Given the description of an element on the screen output the (x, y) to click on. 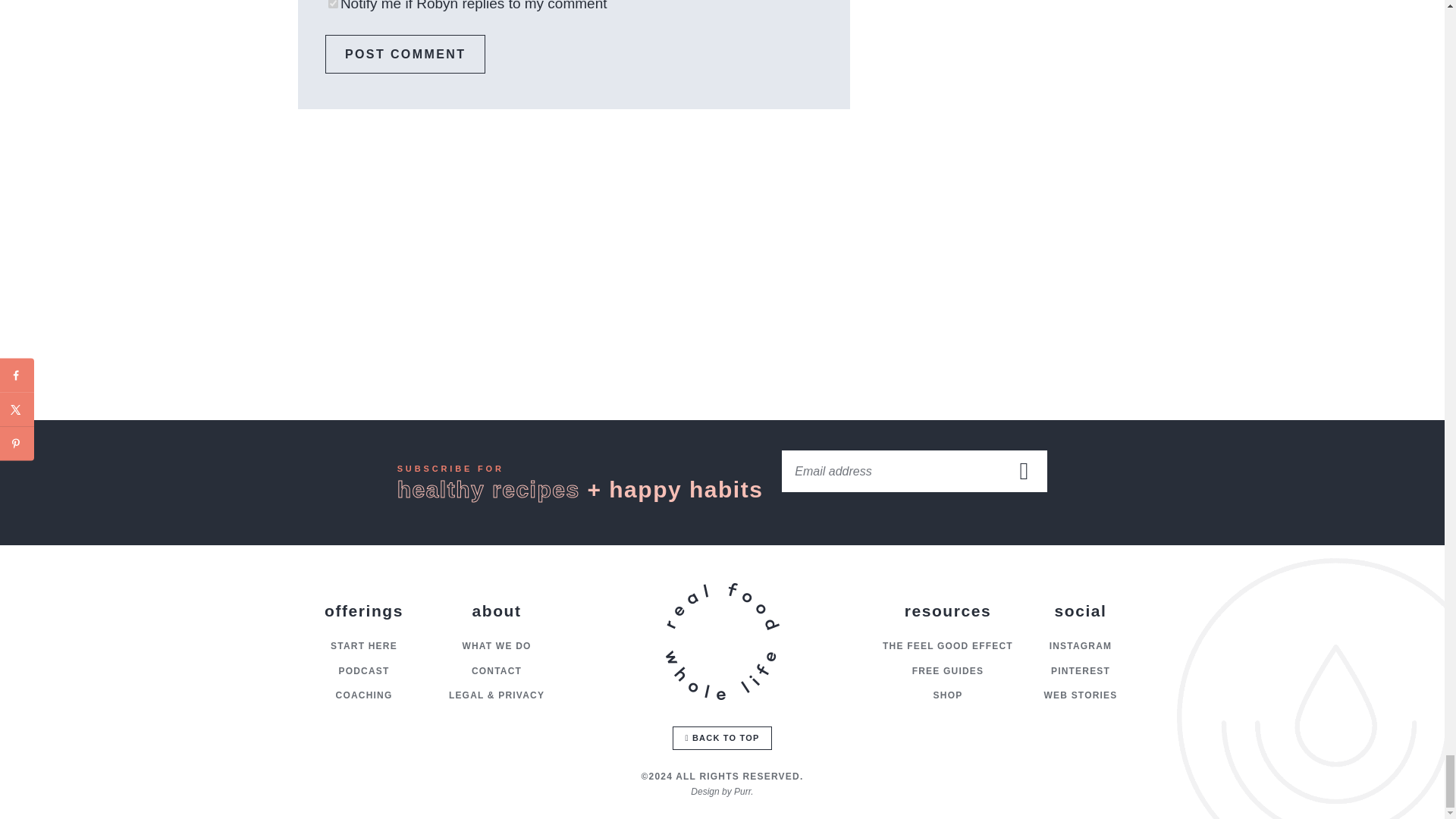
Post Comment (404, 54)
on (333, 4)
Real Food Whole Life (721, 641)
